Given the description of an element on the screen output the (x, y) to click on. 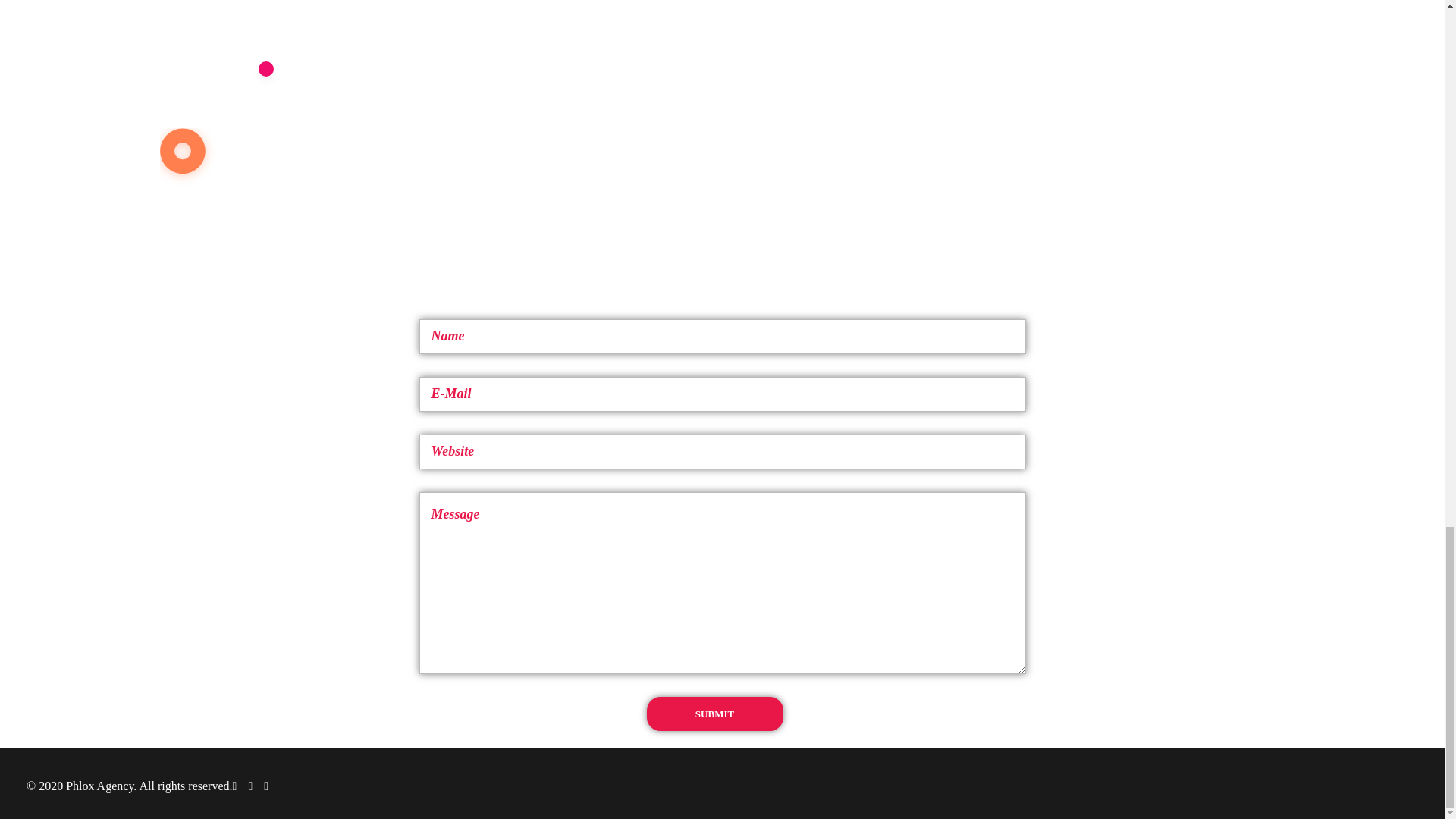
Submit (714, 714)
